Given the description of an element on the screen output the (x, y) to click on. 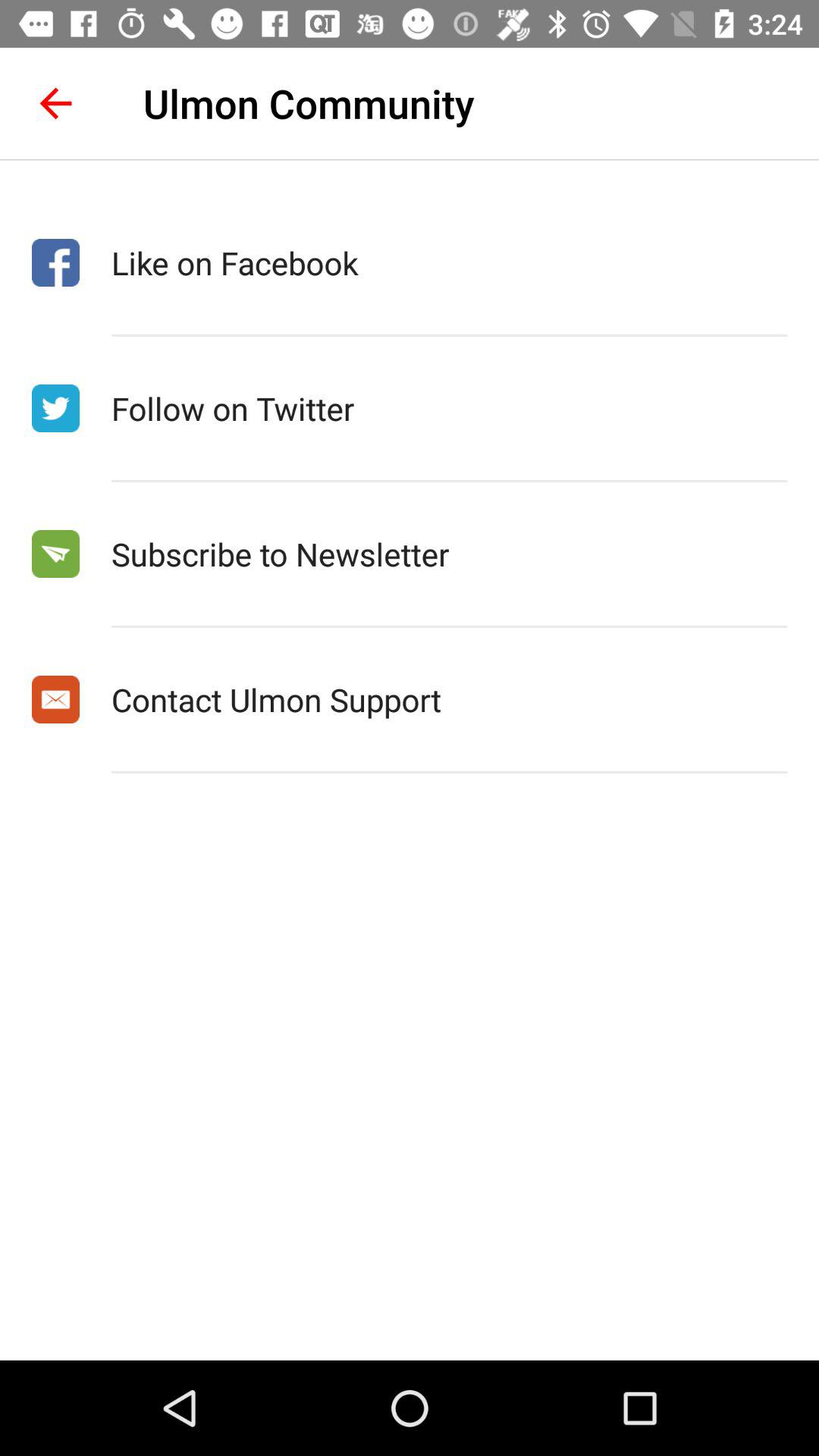
select the icon to the left of ulmon community icon (55, 103)
